Given the description of an element on the screen output the (x, y) to click on. 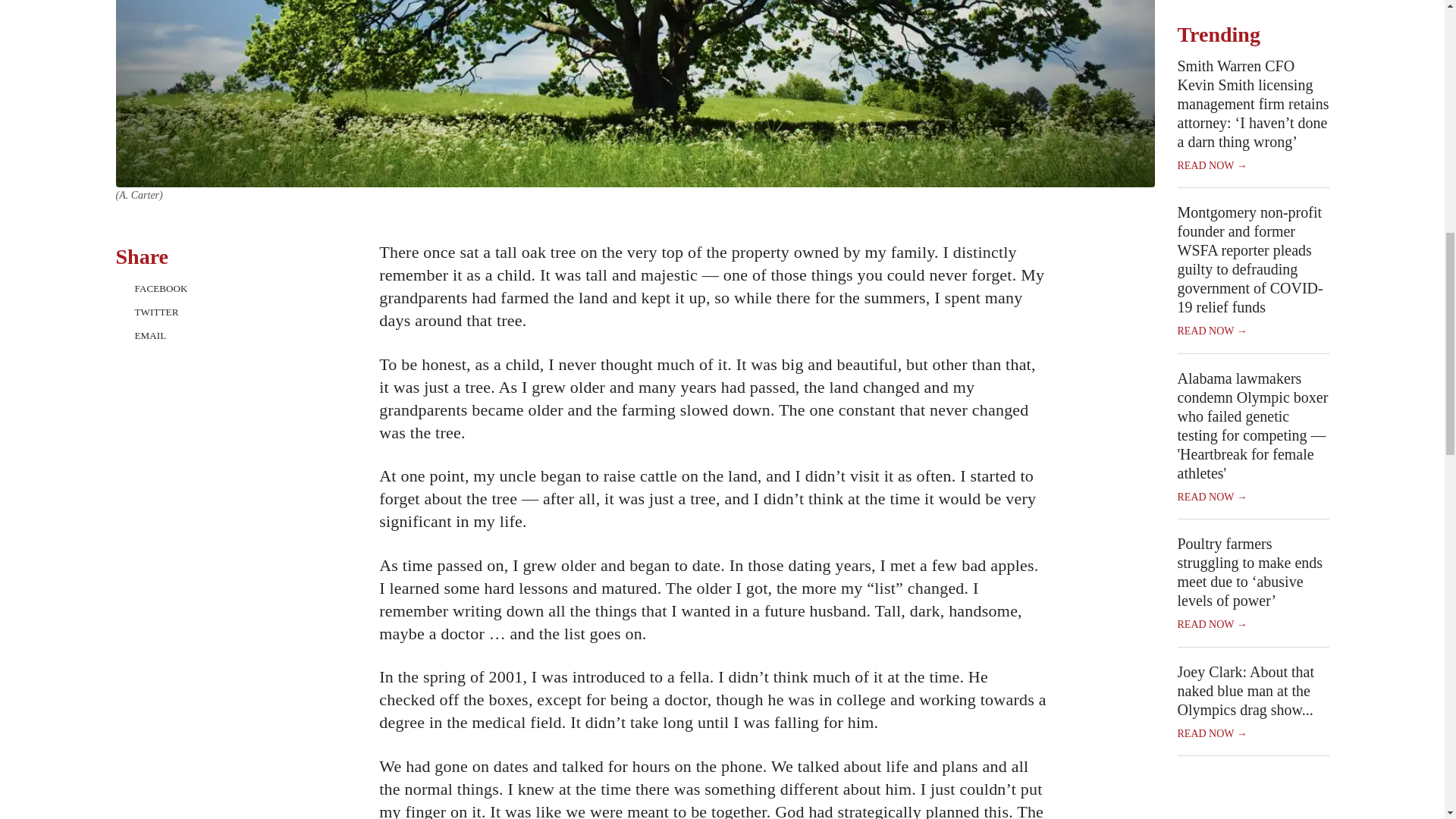
FACEBOOK (181, 288)
